Given the description of an element on the screen output the (x, y) to click on. 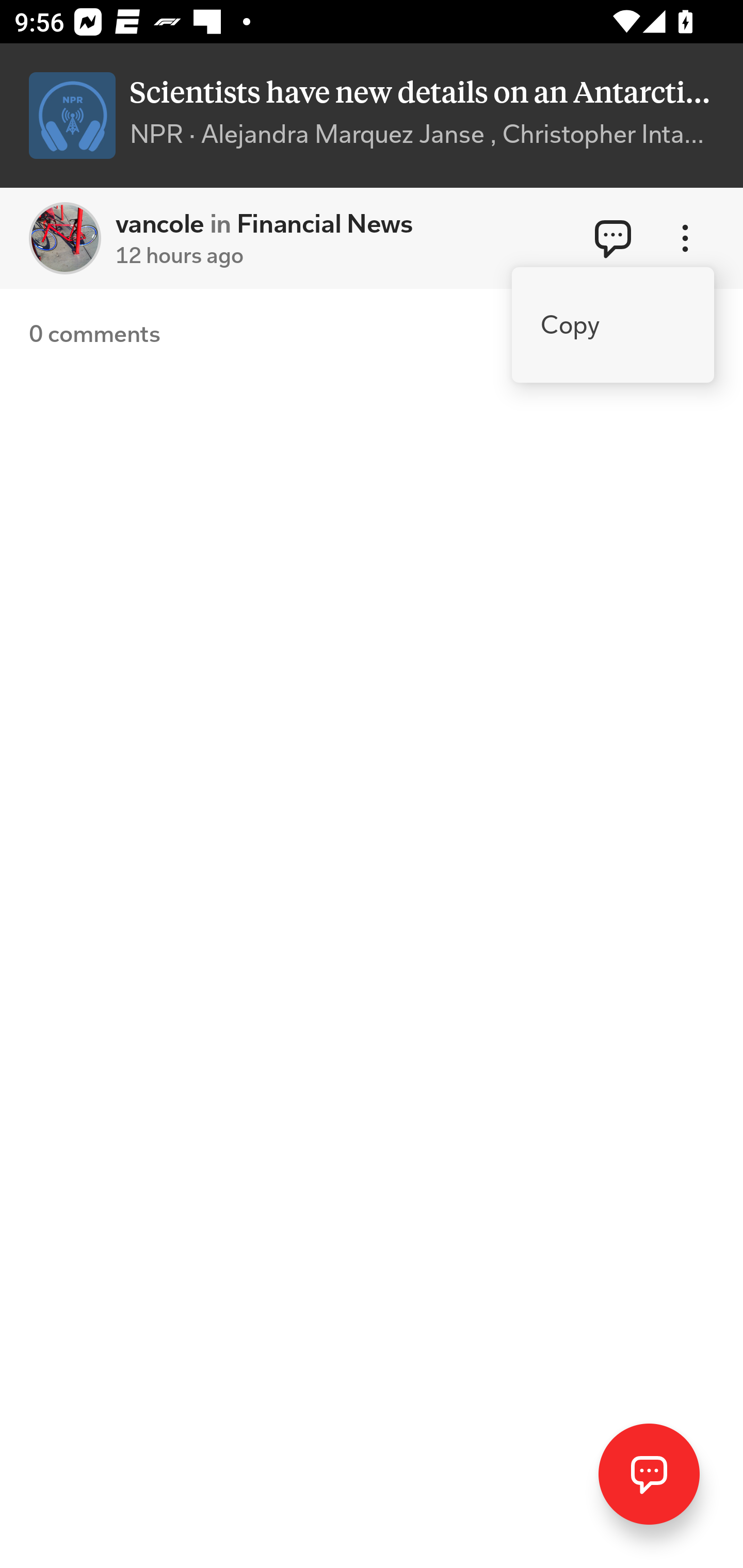
Copy (612, 325)
